Given the description of an element on the screen output the (x, y) to click on. 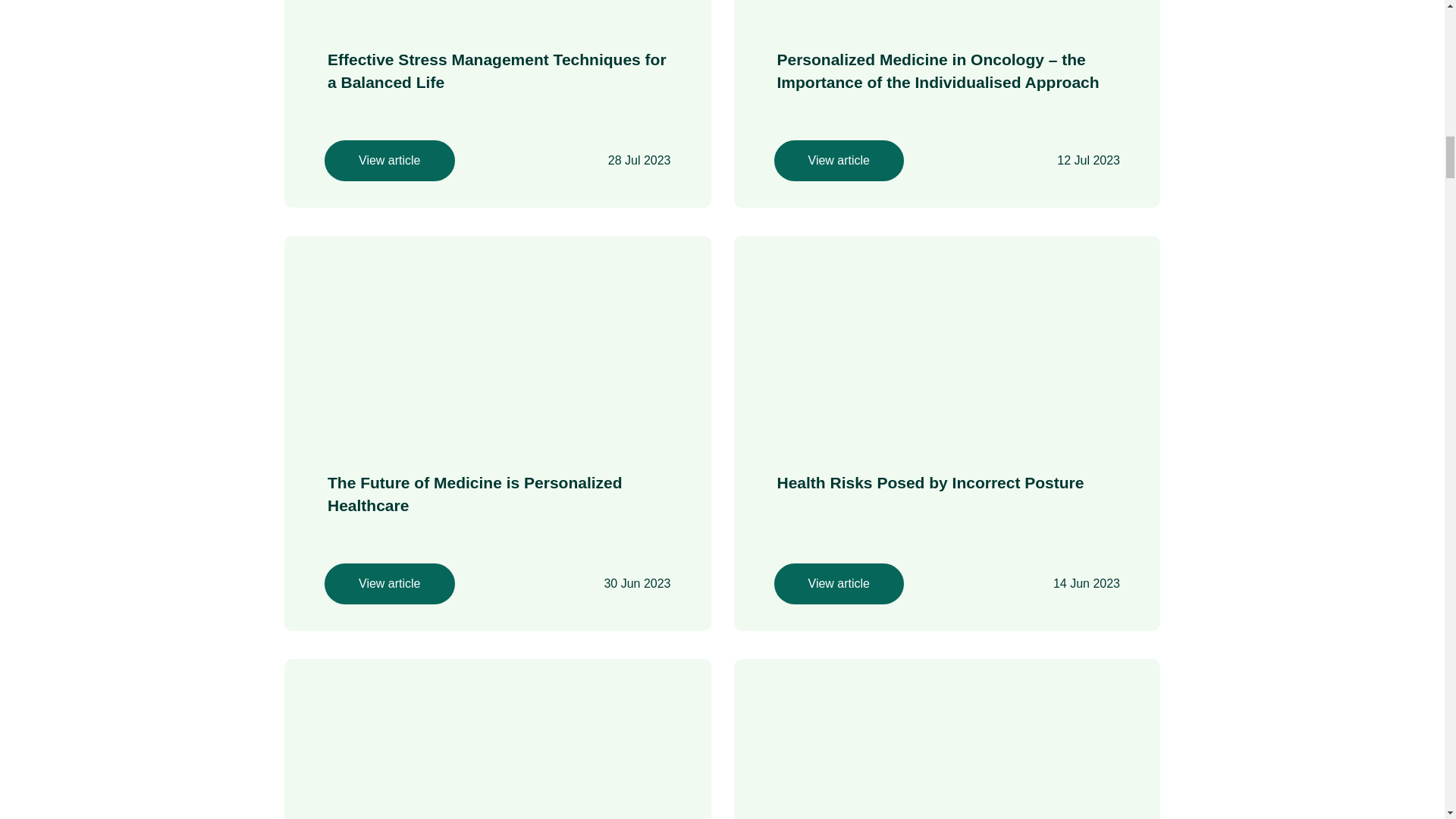
View article (838, 583)
View article (389, 583)
View article (838, 160)
View article (389, 160)
